Given the description of an element on the screen output the (x, y) to click on. 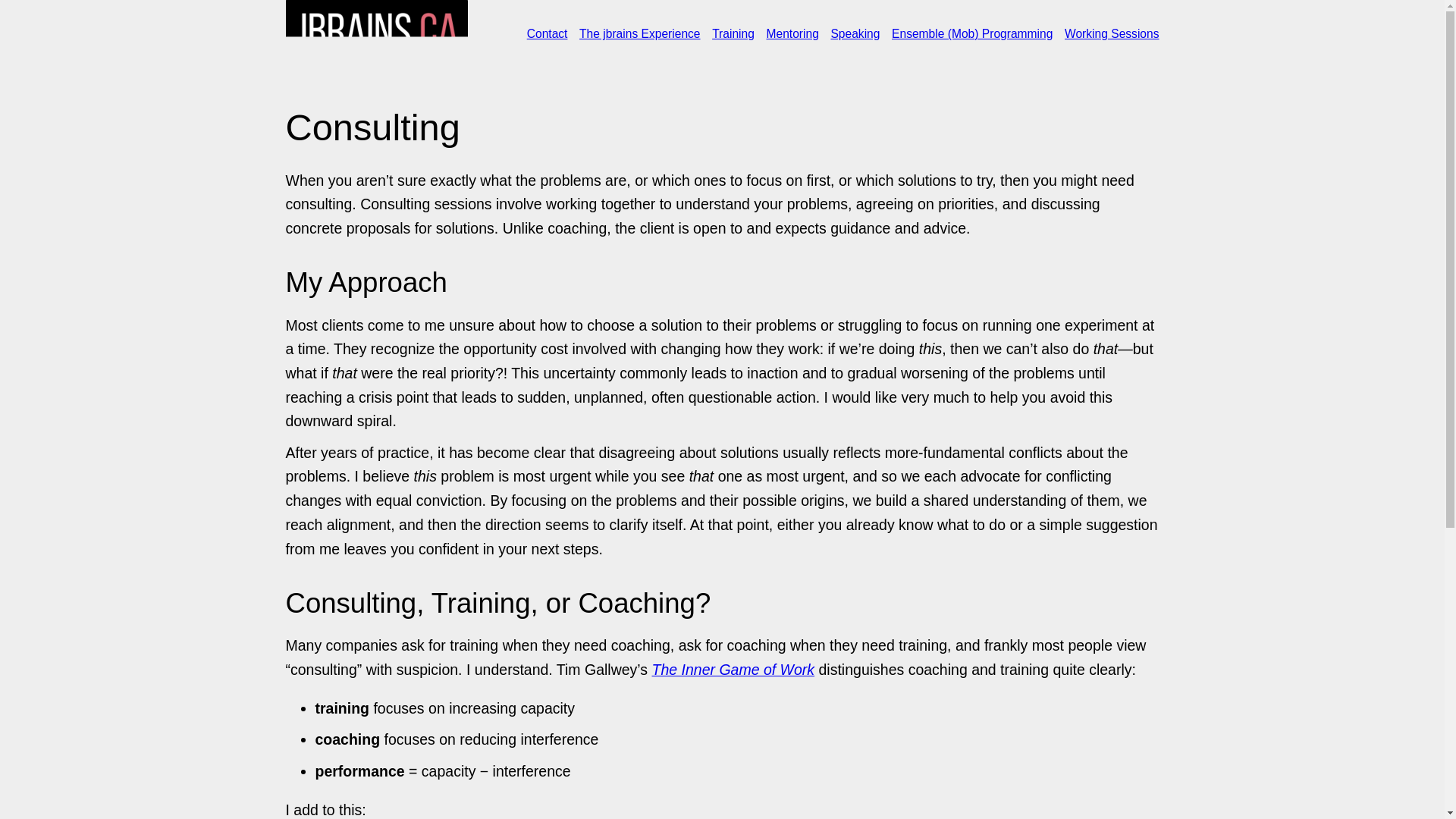
Contact (547, 33)
Mentoring (791, 33)
The jbrains Experience (639, 33)
The Inner Game of Work (733, 669)
Training (732, 33)
